Given the description of an element on the screen output the (x, y) to click on. 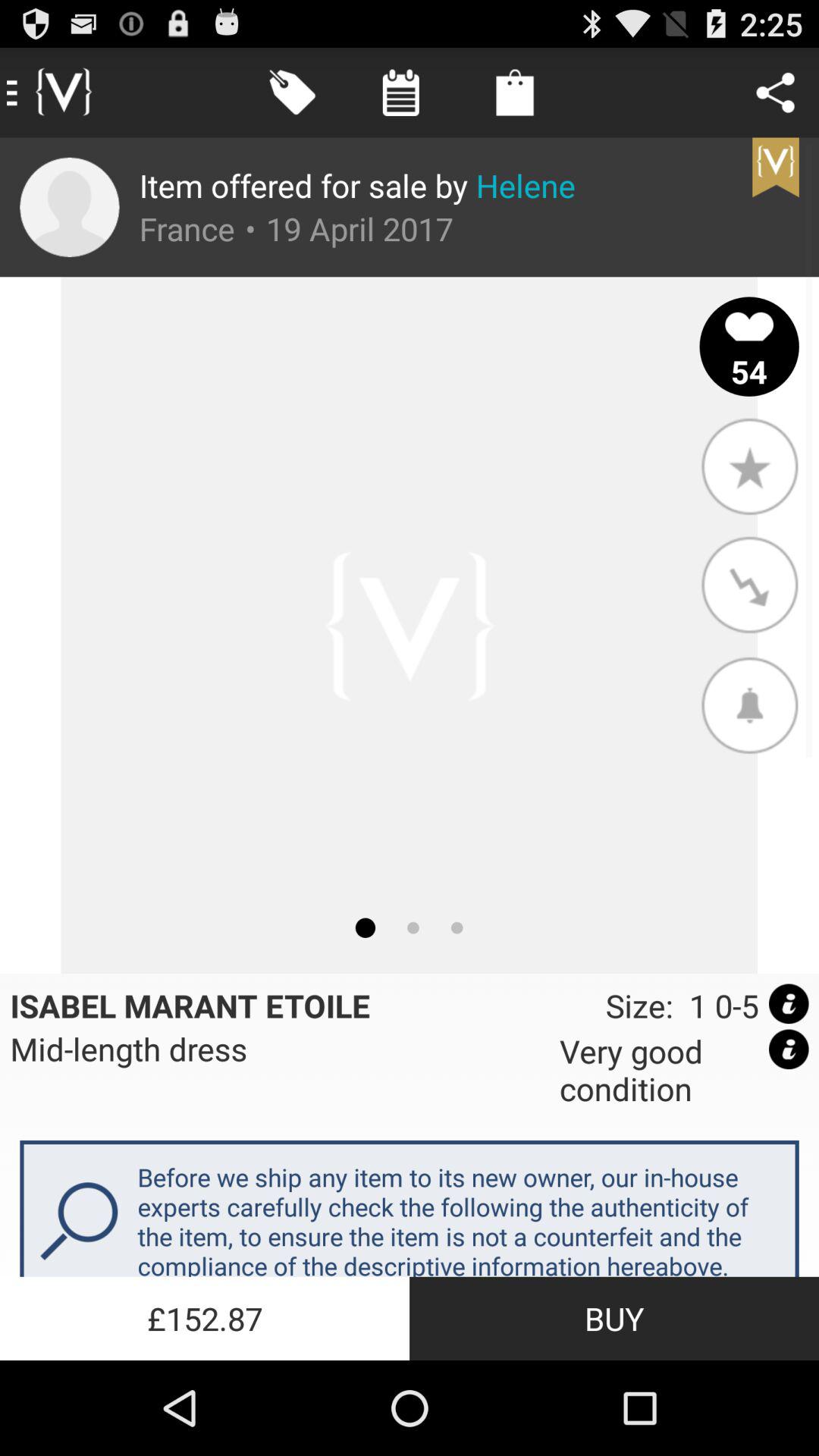
open item above size 1 0 (749, 704)
